Given the description of an element on the screen output the (x, y) to click on. 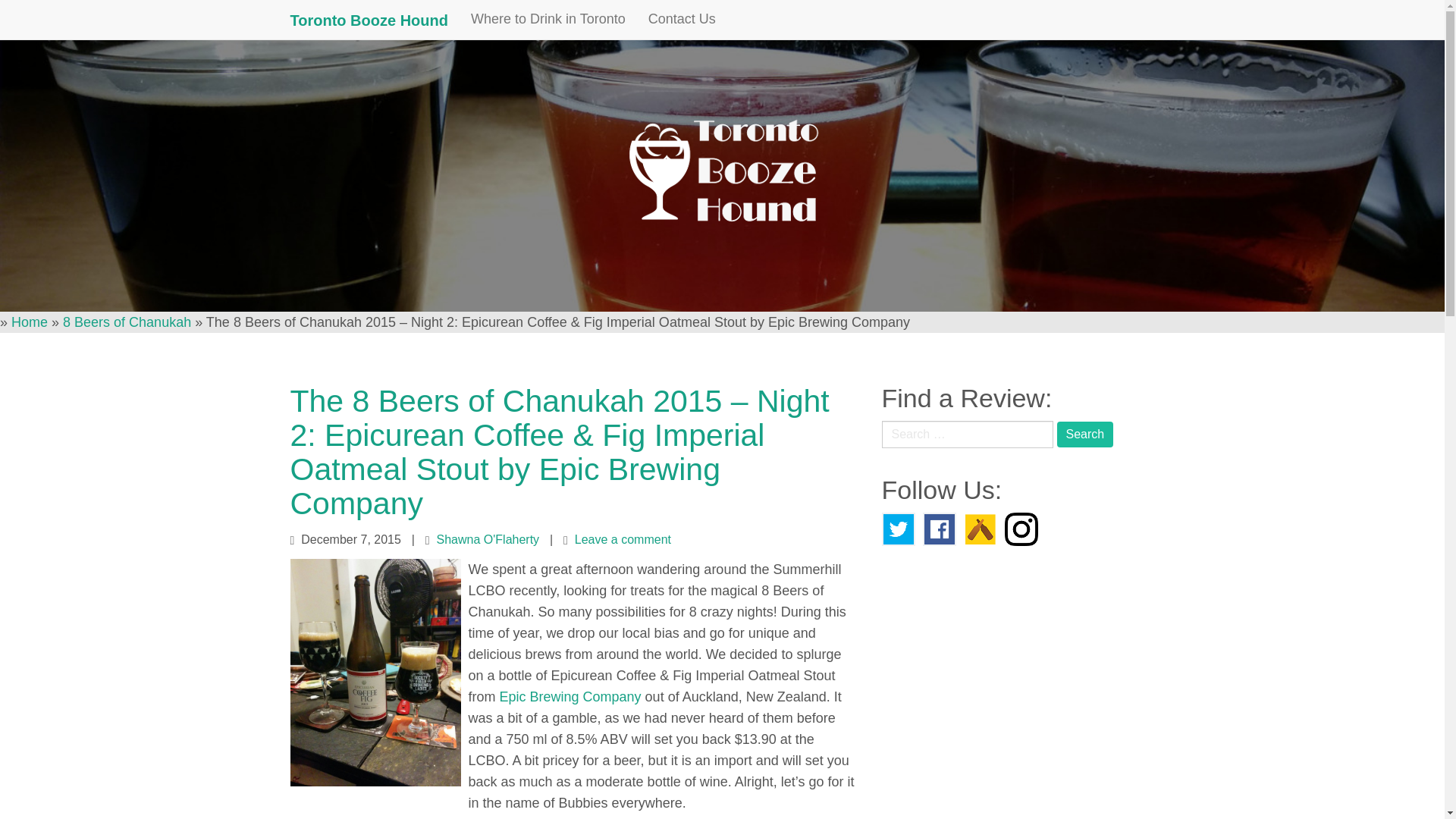
Posts by Shawna O'Flaherty (488, 539)
Where to Drink in Toronto (548, 18)
Search (1085, 434)
8 Beers of Chanukah (126, 321)
Shawna O'Flaherty (488, 539)
Leave a comment (623, 539)
Search (1085, 434)
Contact Us (681, 18)
Home (29, 321)
Search (1085, 434)
Toronto Booze Hound (369, 20)
Epic Brewing Company (570, 696)
